Given the description of an element on the screen output the (x, y) to click on. 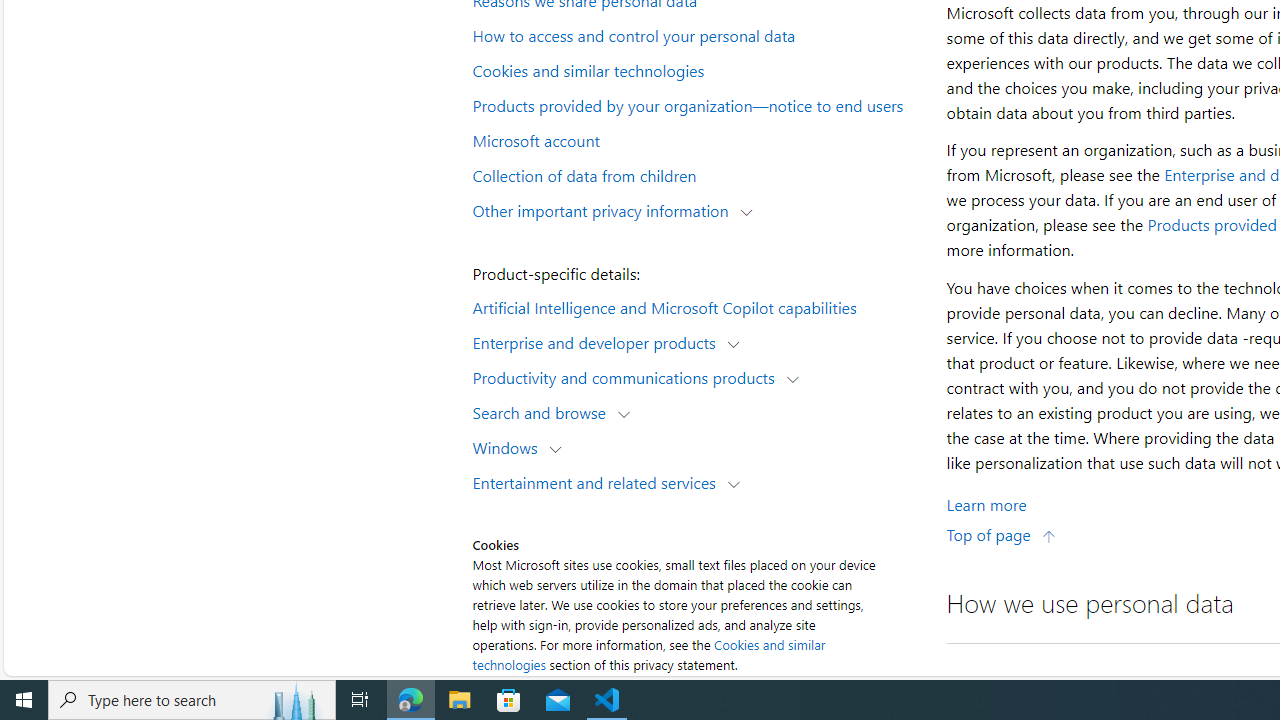
How to access and control your personal data (696, 35)
Learn More about Personal data we collect (985, 504)
Cookies and similar technologies (648, 654)
Other important privacy information (605, 209)
Search and browse (543, 412)
Enterprise and developer products (598, 341)
Microsoft account (696, 139)
Top of page (1001, 534)
Artificial Intelligence and Microsoft Copilot capabilities (696, 306)
Collection of data from children (696, 174)
Cookies and similar technologies (696, 69)
Entertainment and related services (598, 481)
Productivity and communications products (628, 376)
